Given the description of an element on the screen output the (x, y) to click on. 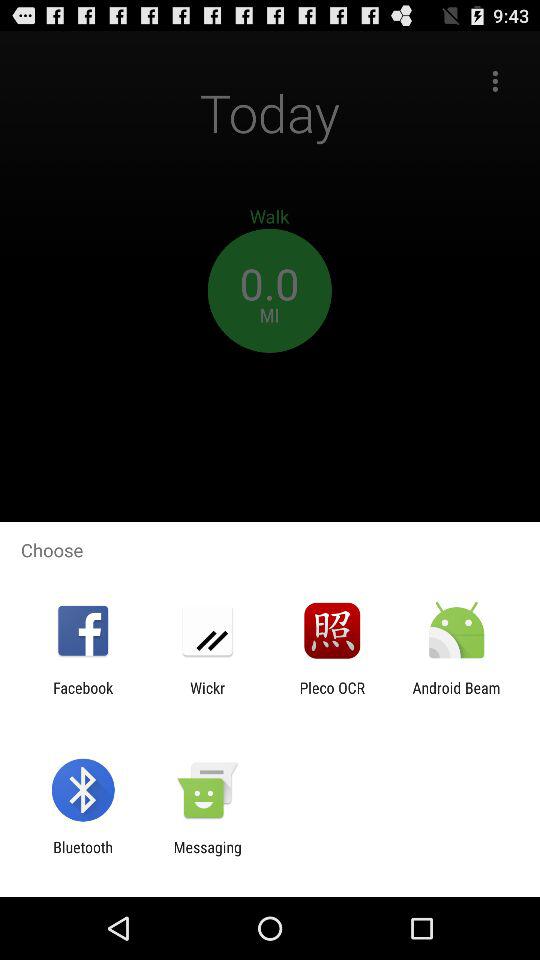
open the app next to wickr item (83, 696)
